Given the description of an element on the screen output the (x, y) to click on. 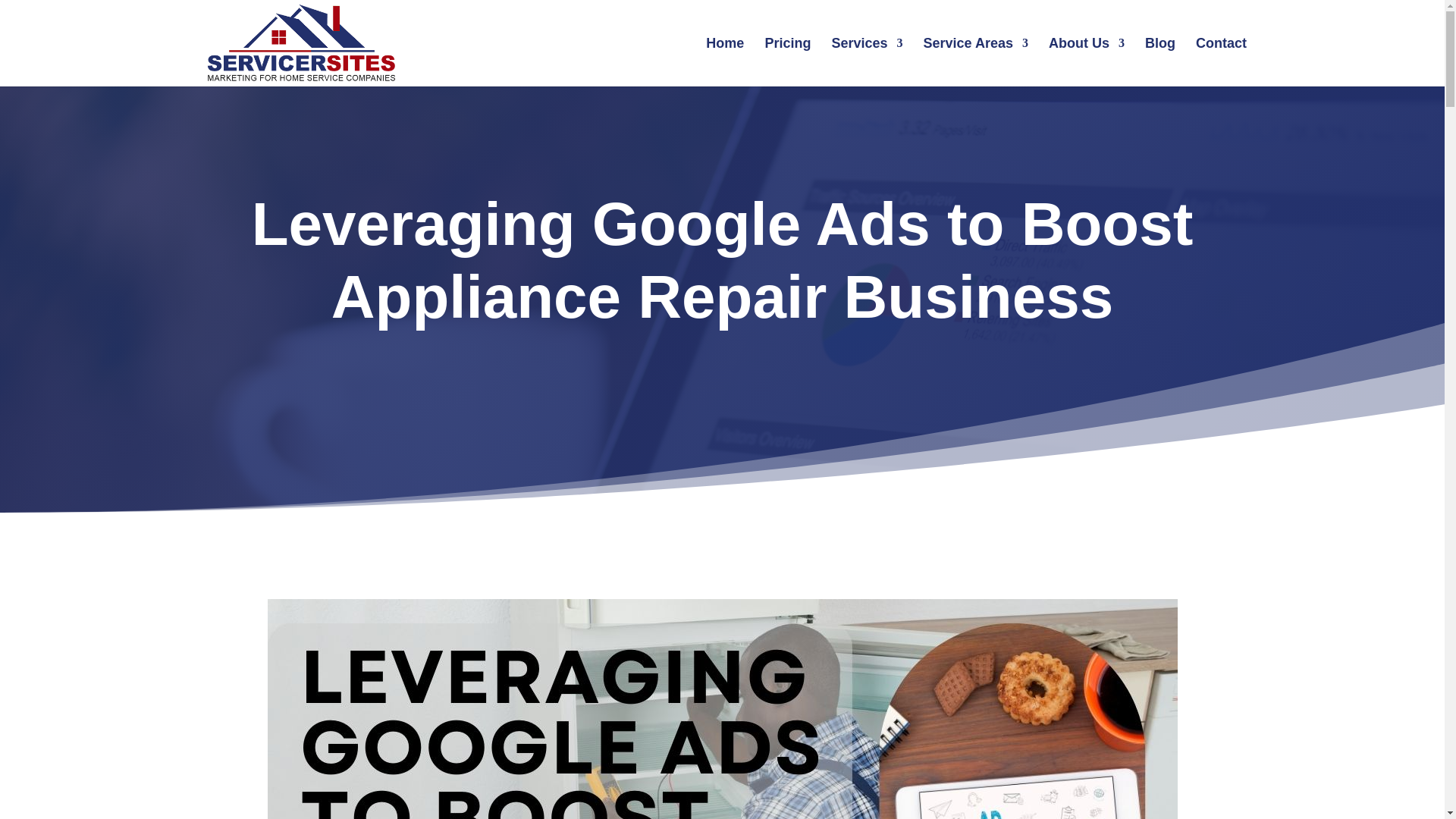
Contact (1220, 61)
Service Areas (975, 61)
Services (866, 61)
Pricing (787, 61)
About Us (1086, 61)
